Given the description of an element on the screen output the (x, y) to click on. 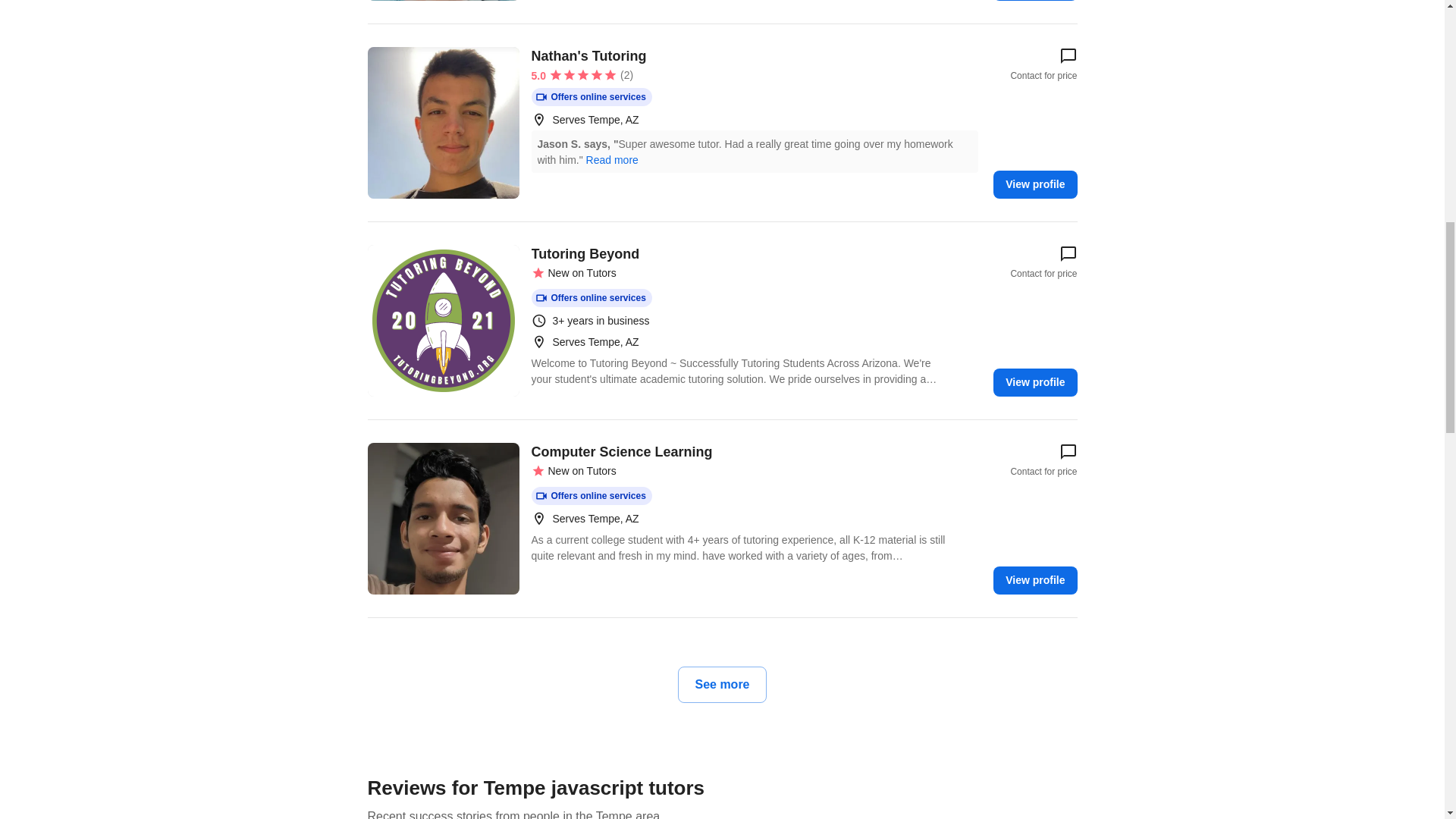
Computer Science Learning (442, 518)
Connect with this tutor via an online session. (590, 96)
Tutoring Beyond (442, 320)
Connect with this tutor via an online session. (590, 495)
Connect with this tutor via an online session. (590, 298)
See more (721, 684)
Nathan's Tutoring (442, 122)
View profile (1034, 184)
Contact for price (1043, 460)
